Given the description of an element on the screen output the (x, y) to click on. 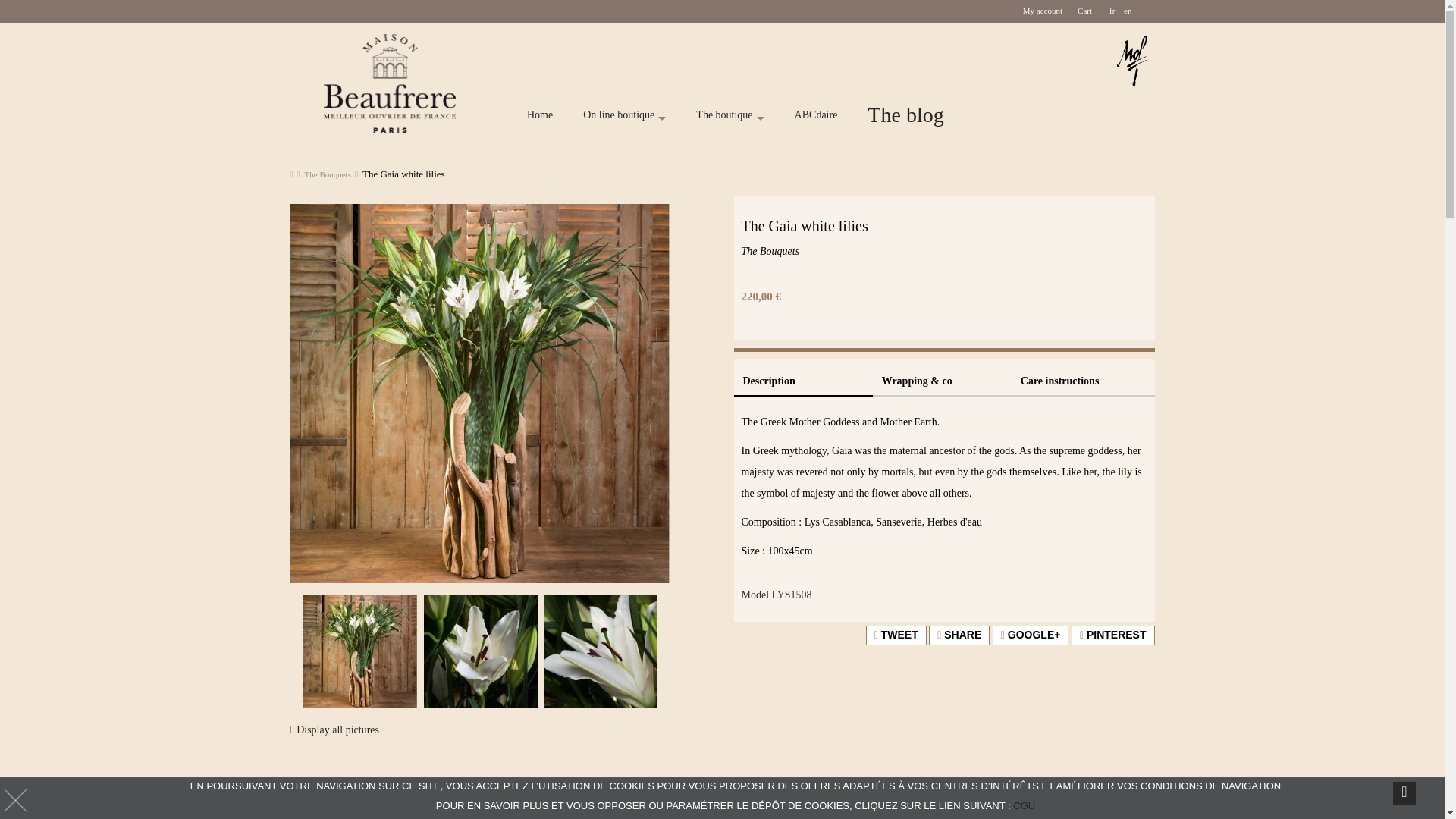
Home (539, 116)
Maison Beaufrere (389, 83)
TWEET (896, 635)
Display all pictures (333, 729)
The Bouquets (327, 173)
The boutique (729, 116)
ABCdaire (815, 116)
The boutique (729, 116)
My account (1042, 10)
Cart (1084, 10)
Home (539, 116)
On line boutique (624, 116)
The blog (904, 116)
ABCdaire (815, 116)
The blog (904, 116)
